Given the description of an element on the screen output the (x, y) to click on. 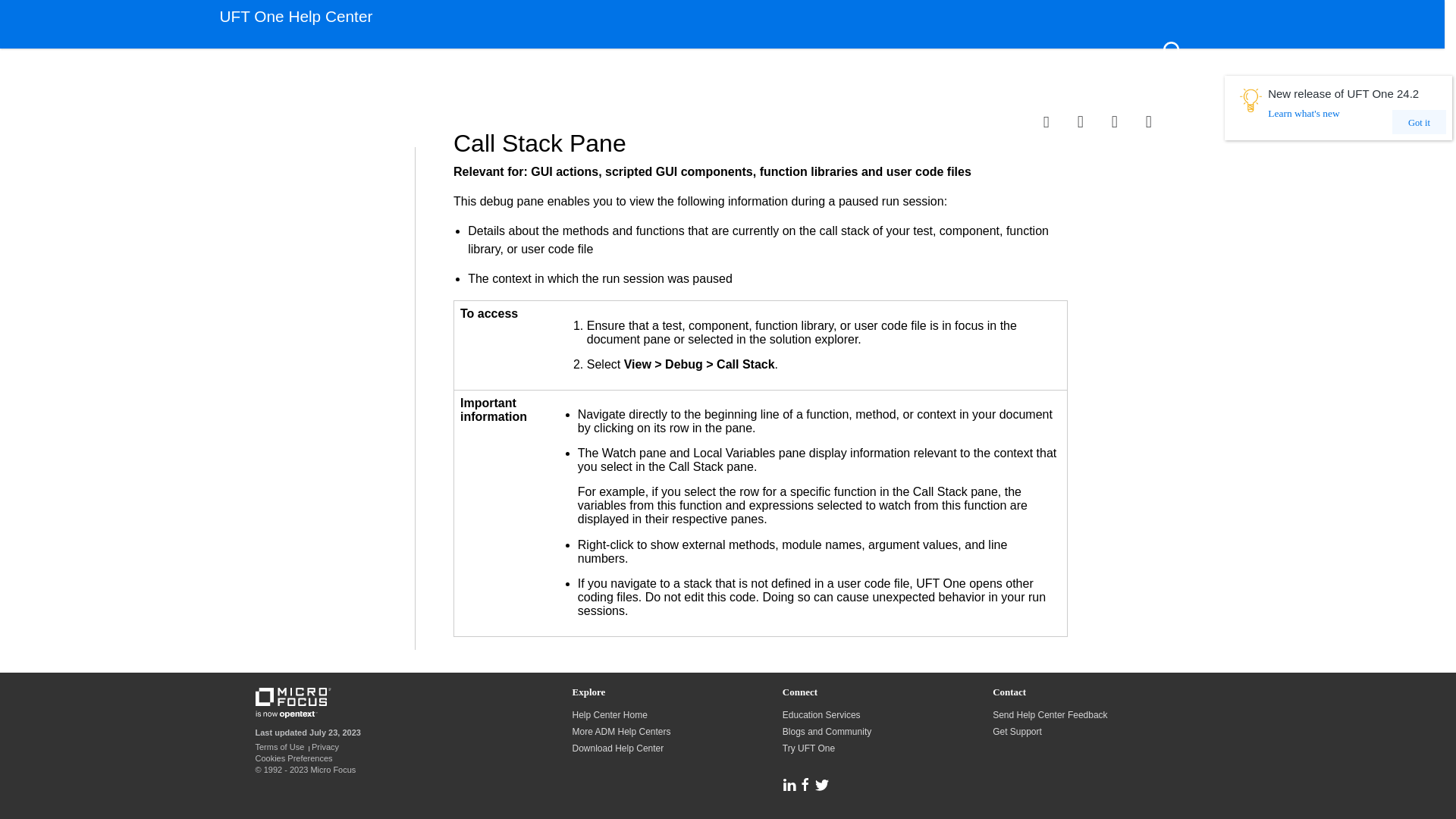
Skip To Main Content (722, 12)
UFT One Help Center (295, 24)
Expand all dropdowns (1094, 121)
Version: 2021-2023 (274, 83)
Got it (1418, 121)
Print the current topic (1162, 121)
Learn what's new (1358, 119)
Remove all search highlights (1128, 121)
Share page (1060, 121)
Search (1173, 50)
